Given the description of an element on the screen output the (x, y) to click on. 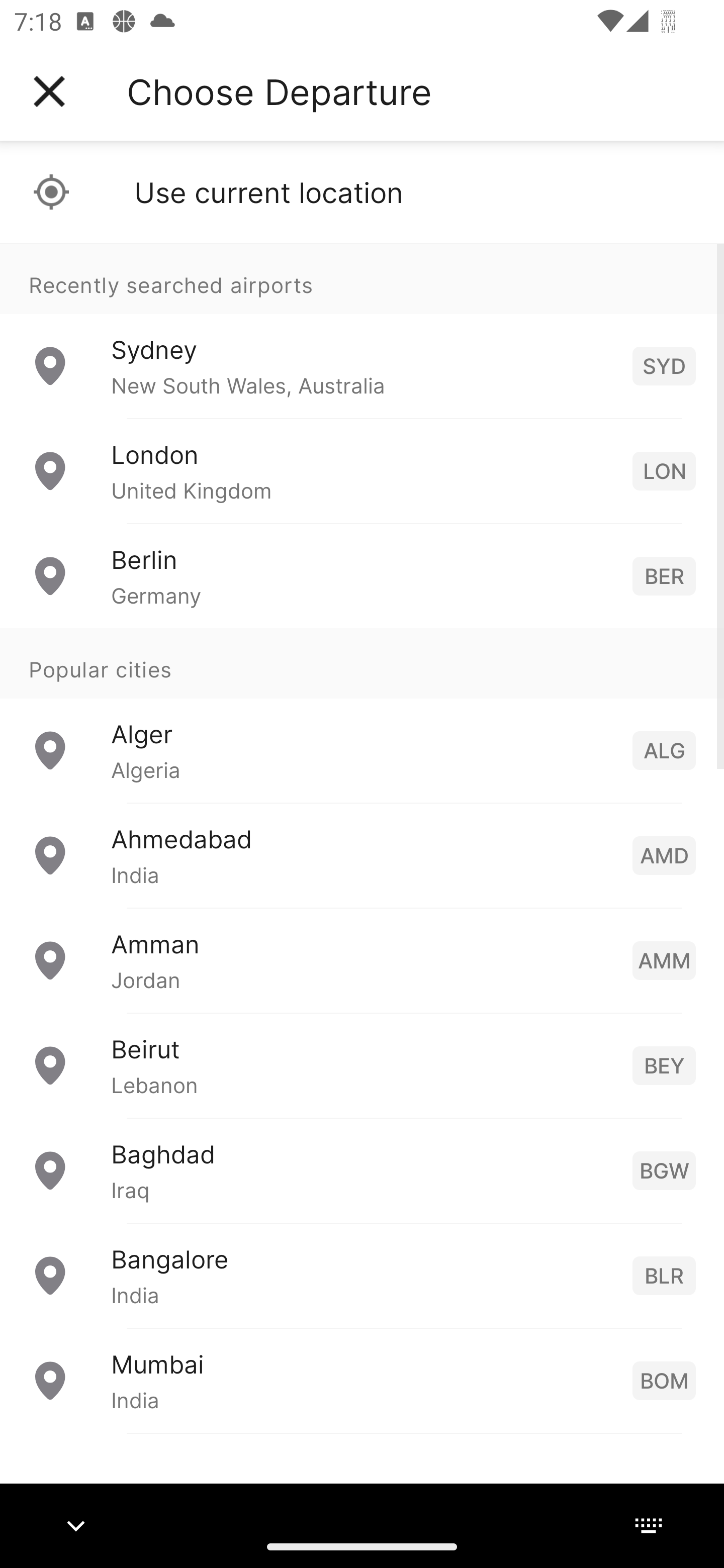
Choose Departure (279, 91)
Use current location (362, 192)
Recently searched airports (362, 278)
London United Kingdom LON (362, 470)
Berlin Germany BER (362, 575)
Popular cities Alger Algeria ALG (362, 715)
Popular cities (362, 663)
Ahmedabad India AMD (362, 854)
Amman Jordan AMM (362, 959)
Beirut Lebanon BEY (362, 1064)
Baghdad Iraq BGW (362, 1170)
Bangalore India BLR (362, 1275)
Mumbai India BOM (362, 1380)
